Given the description of an element on the screen output the (x, y) to click on. 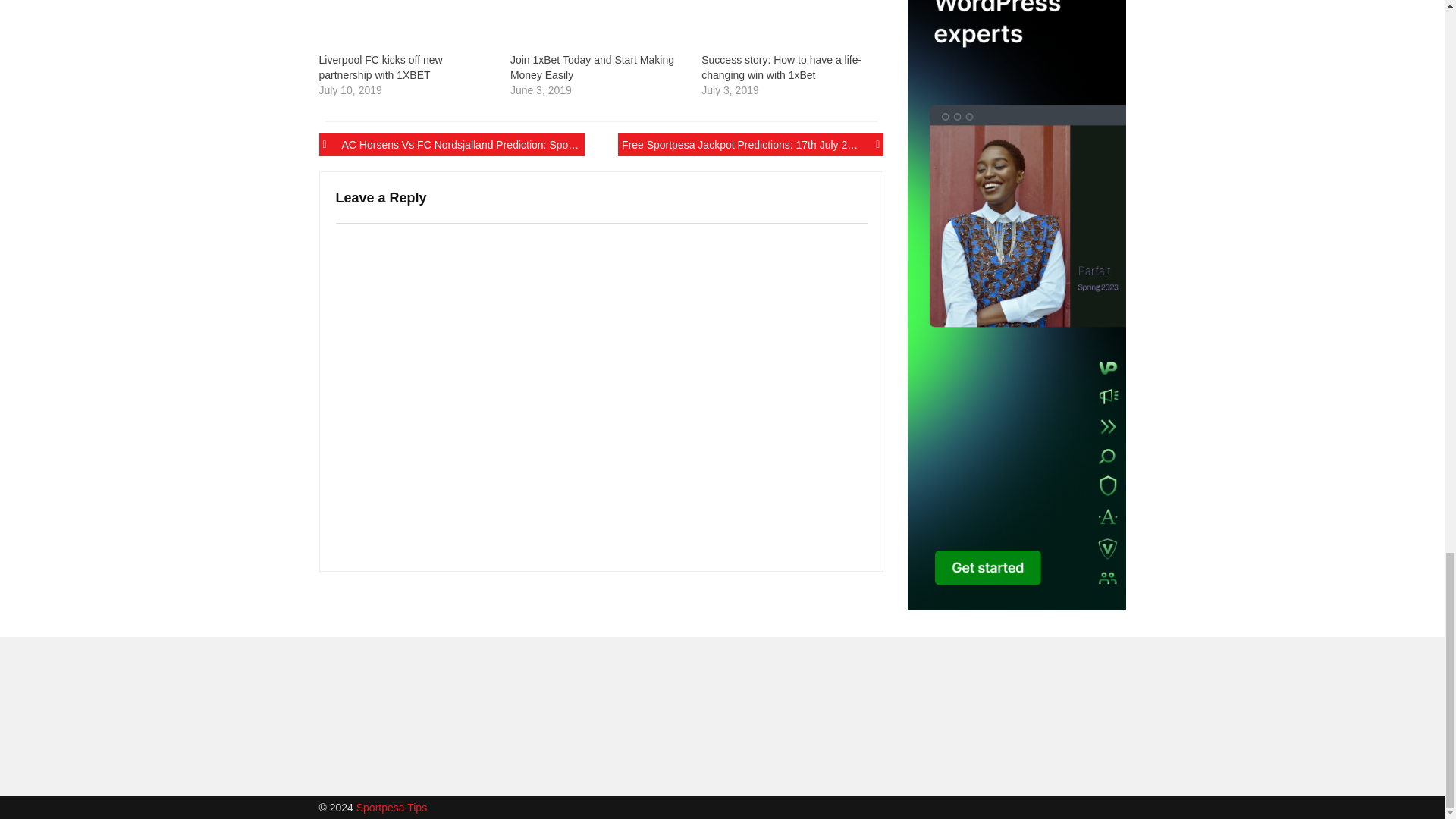
Liverpool FC kicks off new partnership with 1XBET (380, 67)
Join 1xBet Today and Start Making Money Easily (592, 67)
Join 1xBet Today and Start Making Money Easily (598, 26)
Liverpool FC kicks off new partnership with 1XBET (380, 67)
Liverpool FC kicks off new partnership with 1XBET (406, 26)
Success story: How to have a life-changing win with 1xBet  (781, 67)
Sportpesa Tips (391, 807)
Free Sportpesa Jackpot Predictions: 17th July 2019 (750, 144)
